Given the description of an element on the screen output the (x, y) to click on. 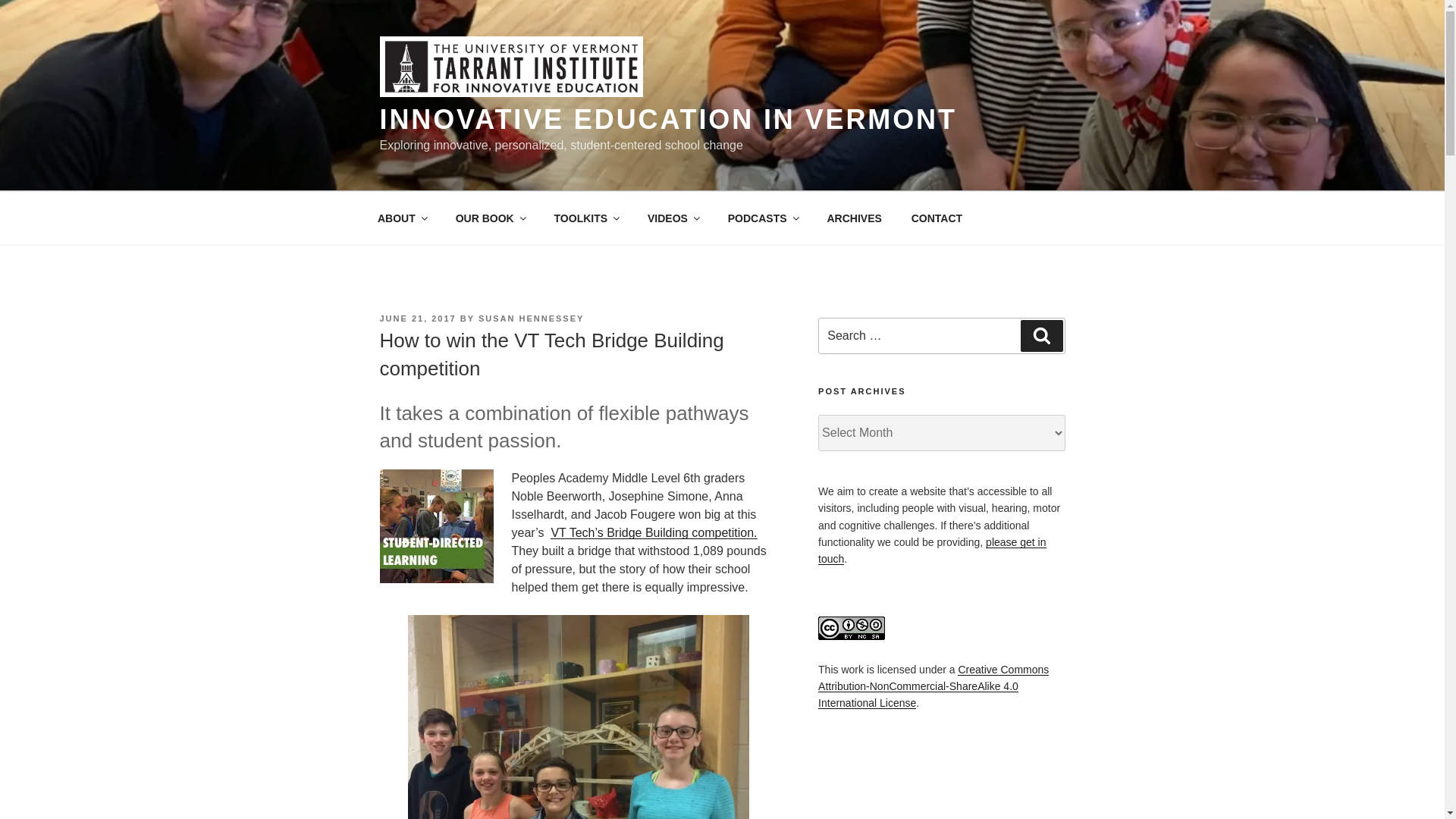
OUR BOOK (489, 218)
INNOVATIVE EDUCATION IN VERMONT (667, 119)
ABOUT (401, 218)
